Given the description of an element on the screen output the (x, y) to click on. 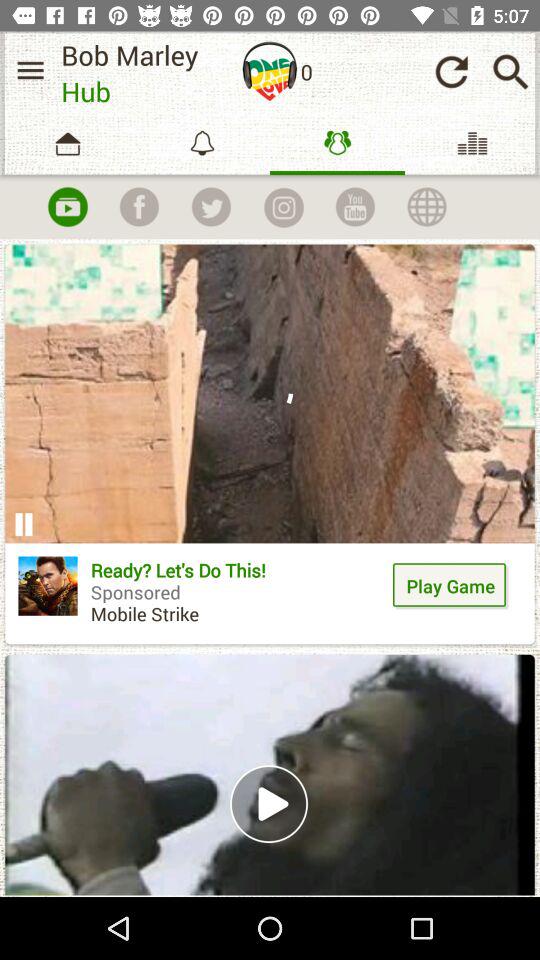
view instagram (283, 207)
